Given the description of an element on the screen output the (x, y) to click on. 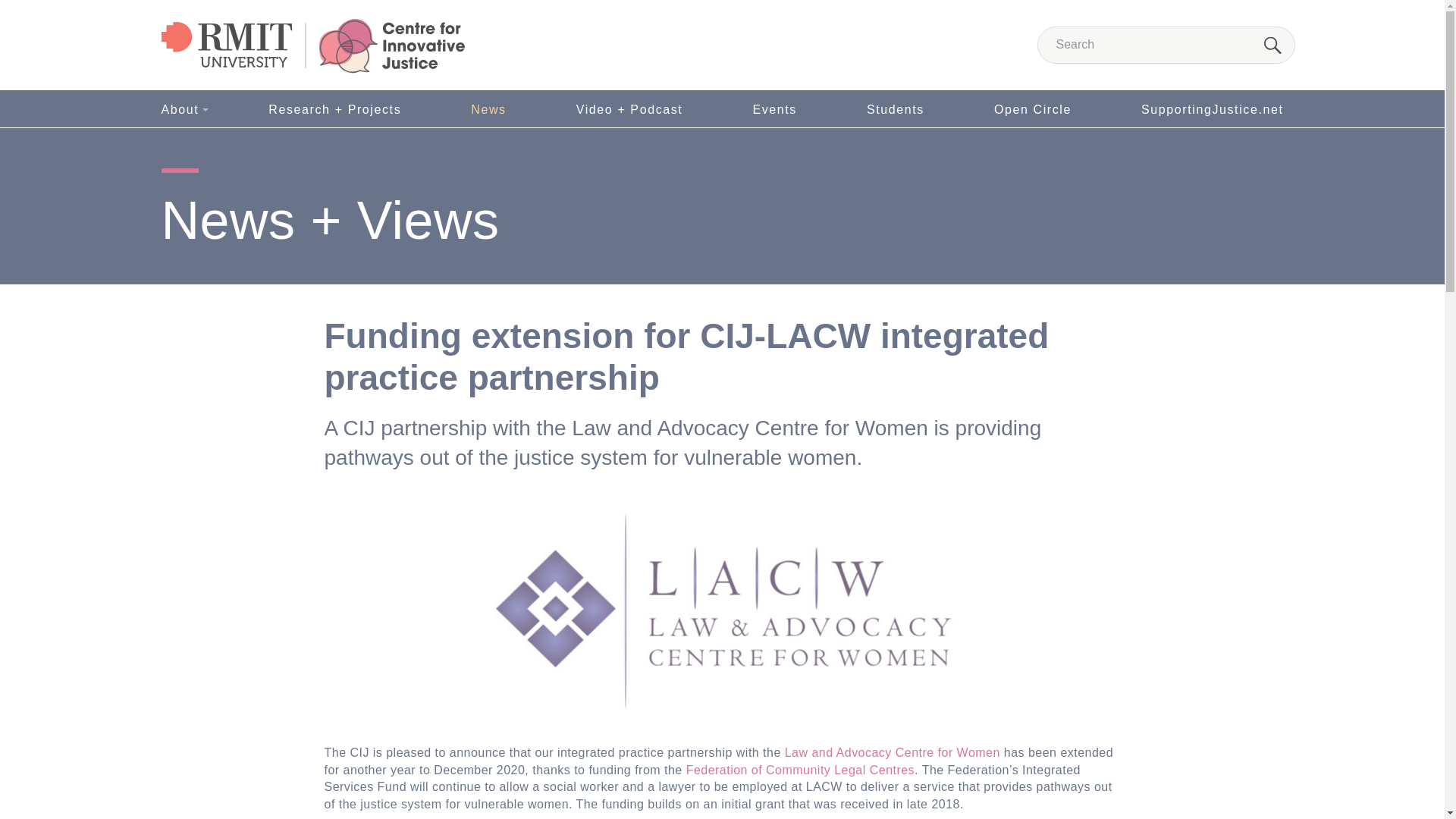
Search (1272, 46)
About (183, 108)
Search for: (1165, 44)
Law and Advocacy Centre for Women (892, 752)
Federation of Community Legal Centres (799, 769)
SupportingJustice.net (1208, 108)
RMIT University Centre for Innovative Justice (312, 46)
Students (895, 108)
Open Circle (1032, 108)
Events (774, 108)
